Given the description of an element on the screen output the (x, y) to click on. 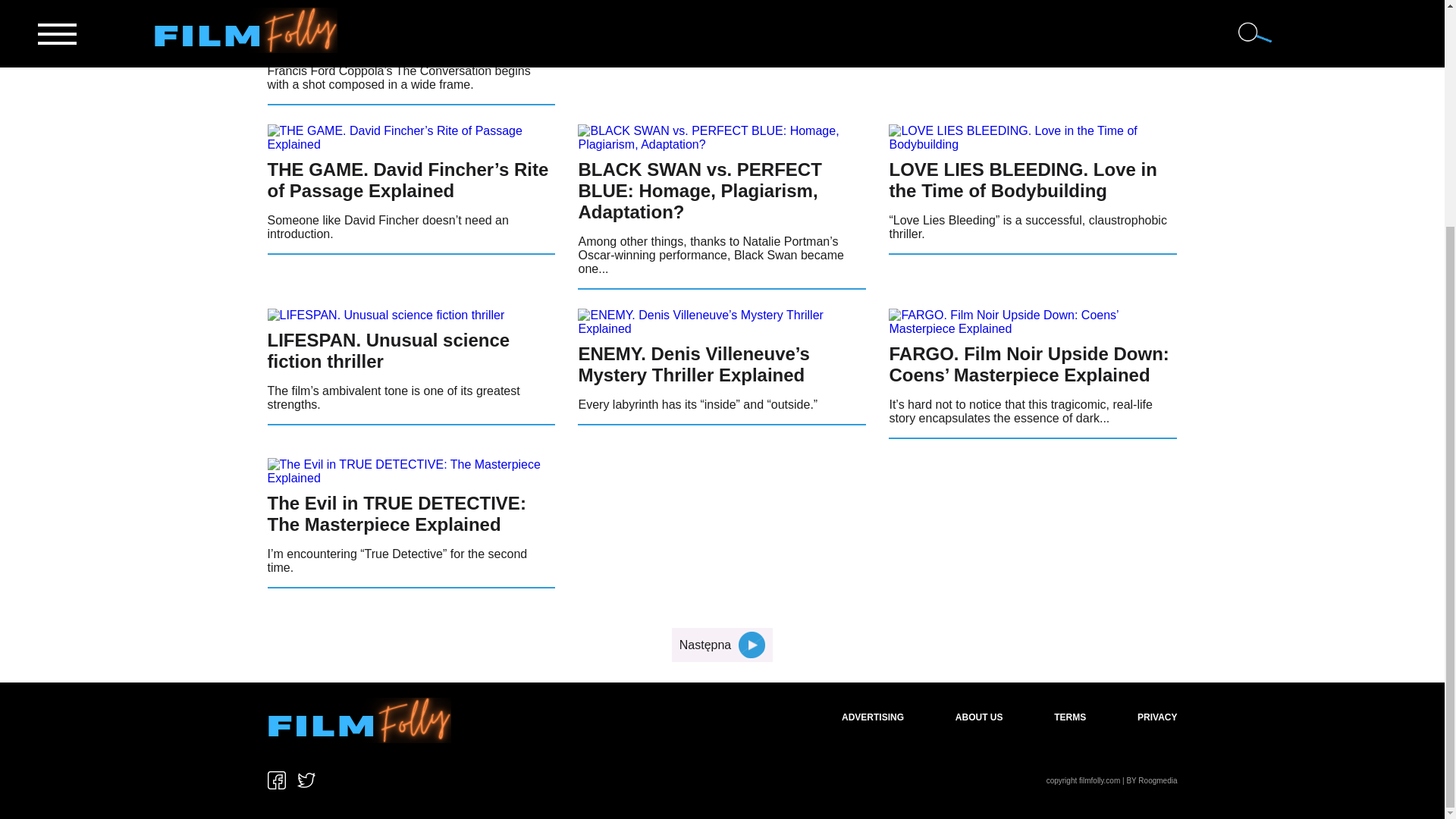
PRIVACY (1156, 716)
ADVERTISING (872, 716)
filmfolly.com (1098, 780)
TERMS (1070, 716)
ABOUT US (979, 716)
